Given the description of an element on the screen output the (x, y) to click on. 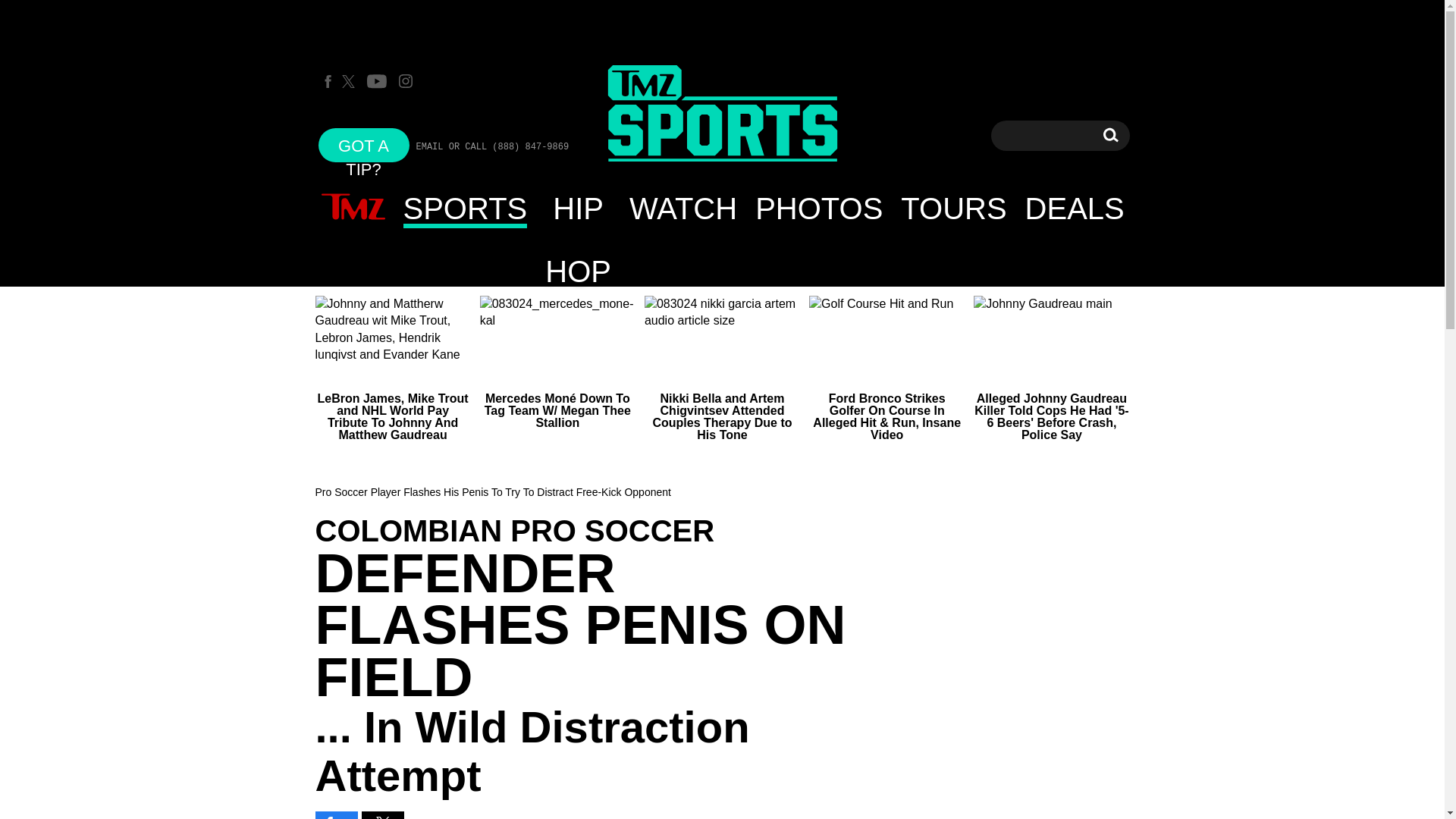
TMZ Sports (722, 115)
Search (1110, 134)
HIP HOP (577, 207)
PHOTOS (818, 207)
NEWS (353, 207)
DEALS (1075, 207)
TMZ Sports (722, 113)
GOT A TIP? (363, 144)
TOURS (952, 207)
